Given the description of an element on the screen output the (x, y) to click on. 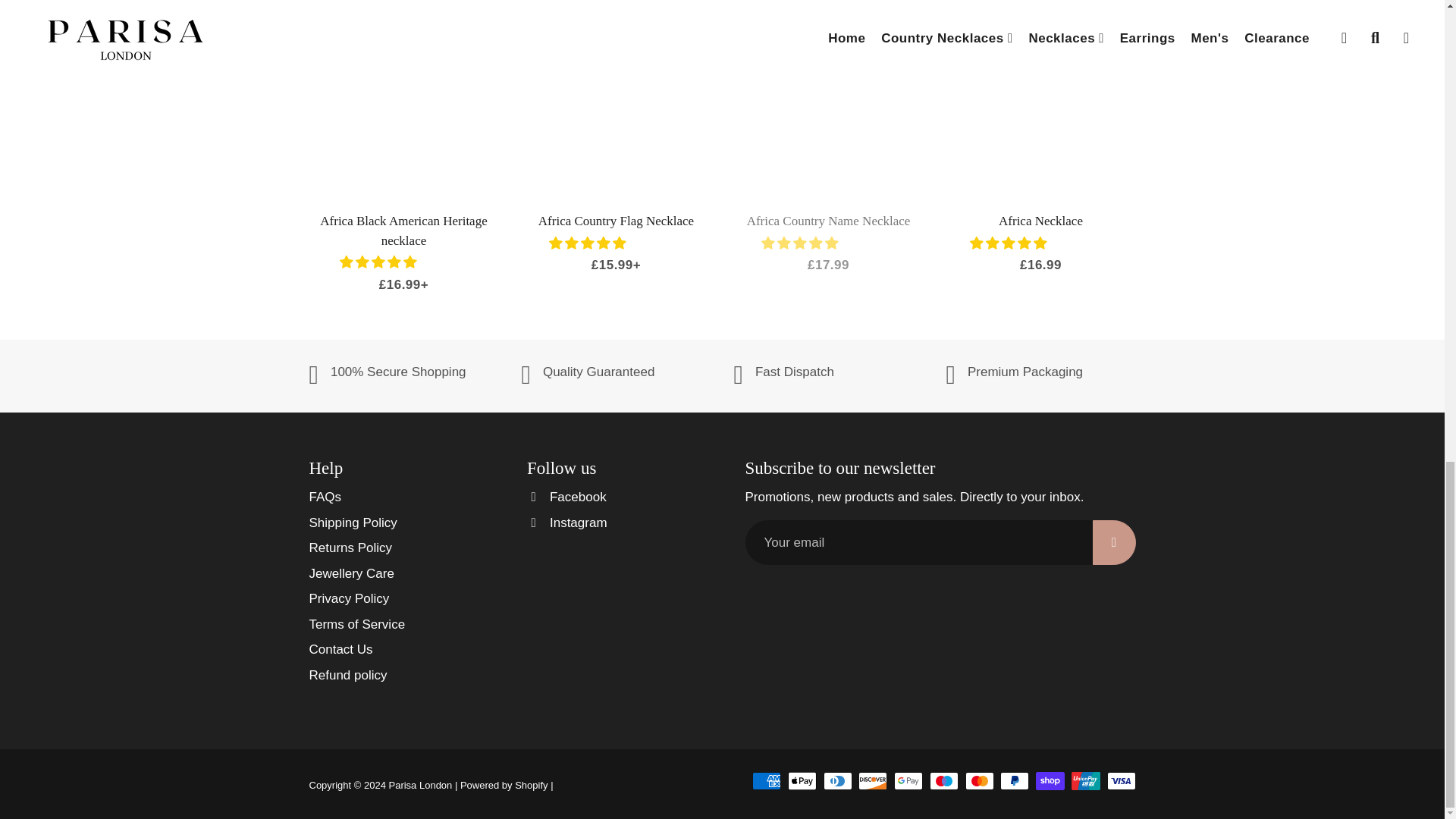
Apple Pay (801, 781)
Union Pay (1085, 781)
Discover (872, 781)
American Express (766, 781)
Maestro (944, 781)
PayPal (1014, 781)
Parisa London on Instagram (567, 523)
Visa (1120, 781)
Diners Club (837, 781)
Mastercard (979, 781)
